Given the description of an element on the screen output the (x, y) to click on. 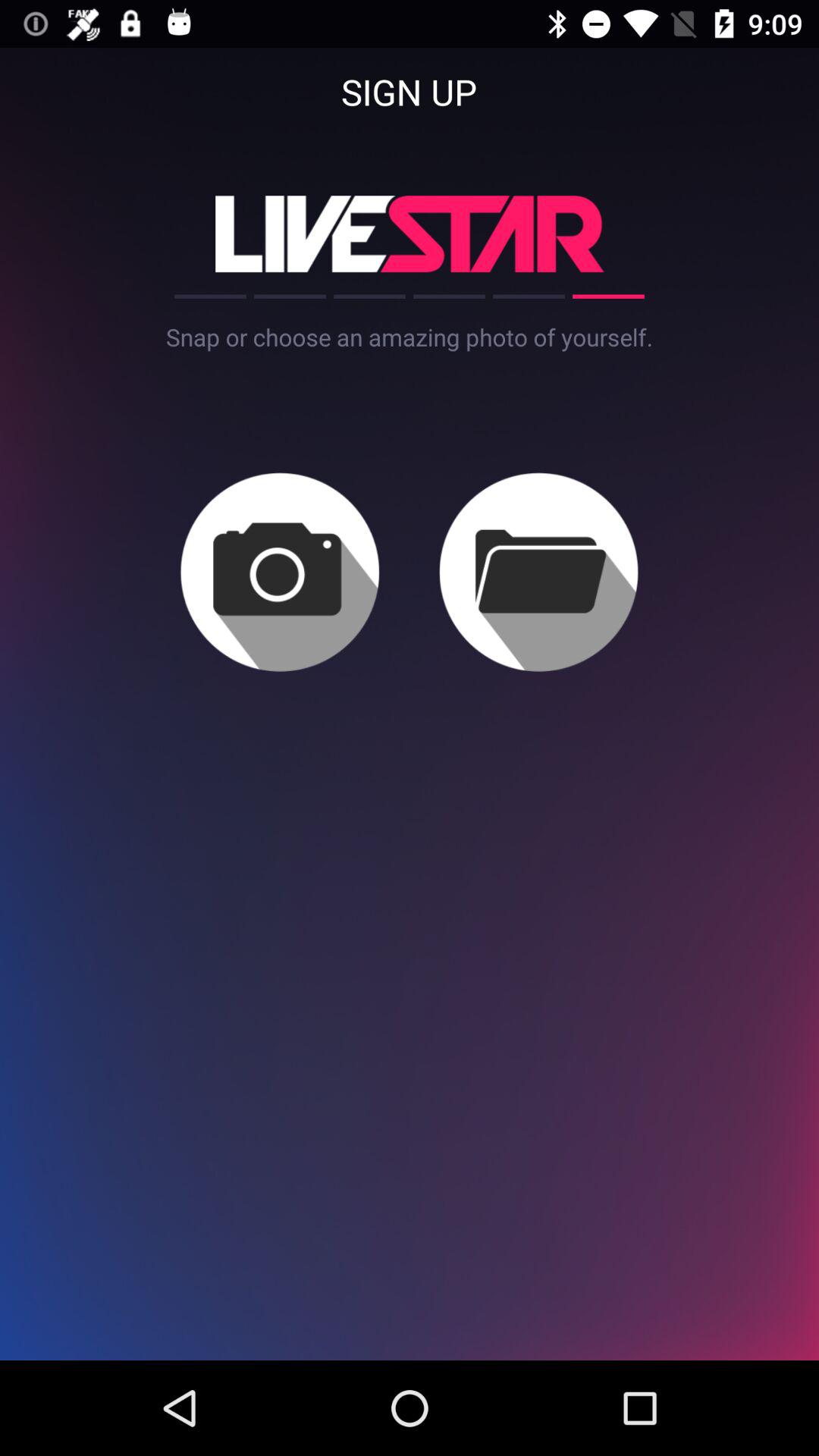
upload image (279, 571)
